Given the description of an element on the screen output the (x, y) to click on. 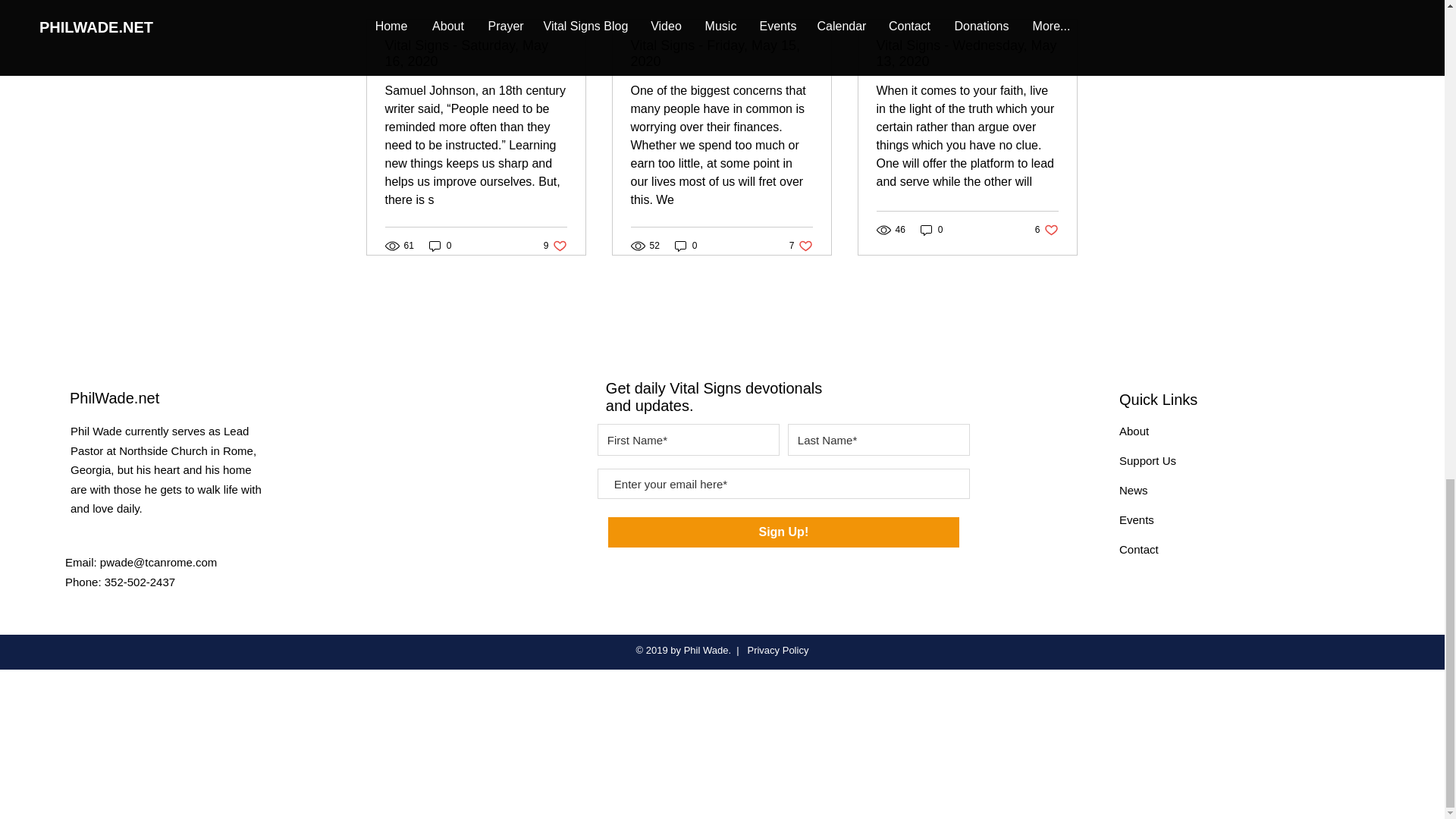
0 (931, 229)
Vital Signs - Saturday, May 16, 2020 (476, 53)
Vital Signs - Friday, May 15, 2020 (555, 245)
See All (721, 53)
About (1046, 229)
0 (1061, 2)
Sign Up! (1133, 431)
0 (685, 245)
Vital Signs - Wednesday, May 13, 2020 (783, 531)
